Given the description of an element on the screen output the (x, y) to click on. 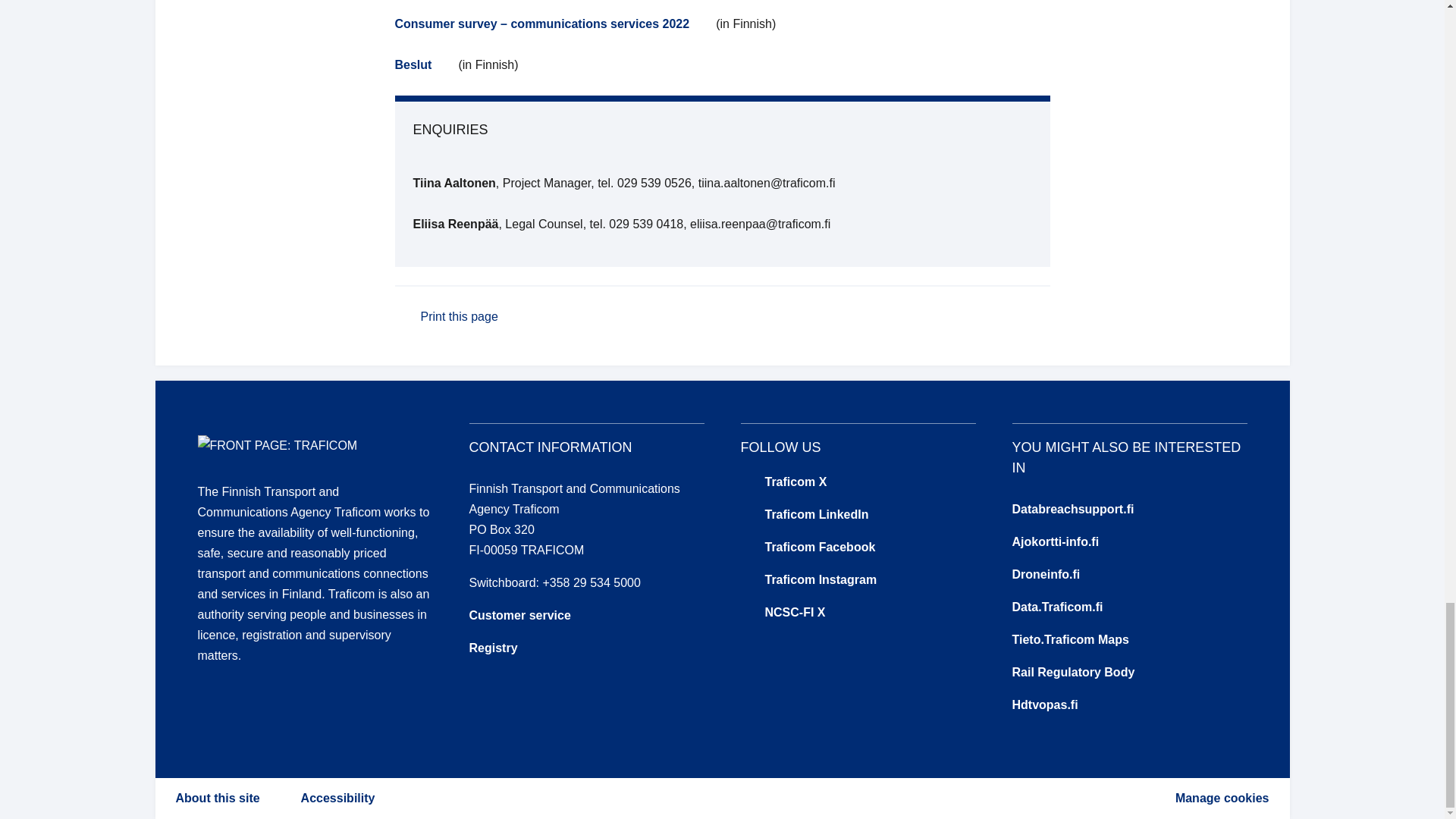
Traficom X (857, 481)
Registry (492, 647)
NCSC-FI X (857, 611)
Print this page (449, 316)
Traficom Instagram (857, 579)
Traficom Facebook (857, 547)
Traficom LinkedIn (857, 514)
Print this page (449, 316)
Customer service (519, 615)
